Given the description of an element on the screen output the (x, y) to click on. 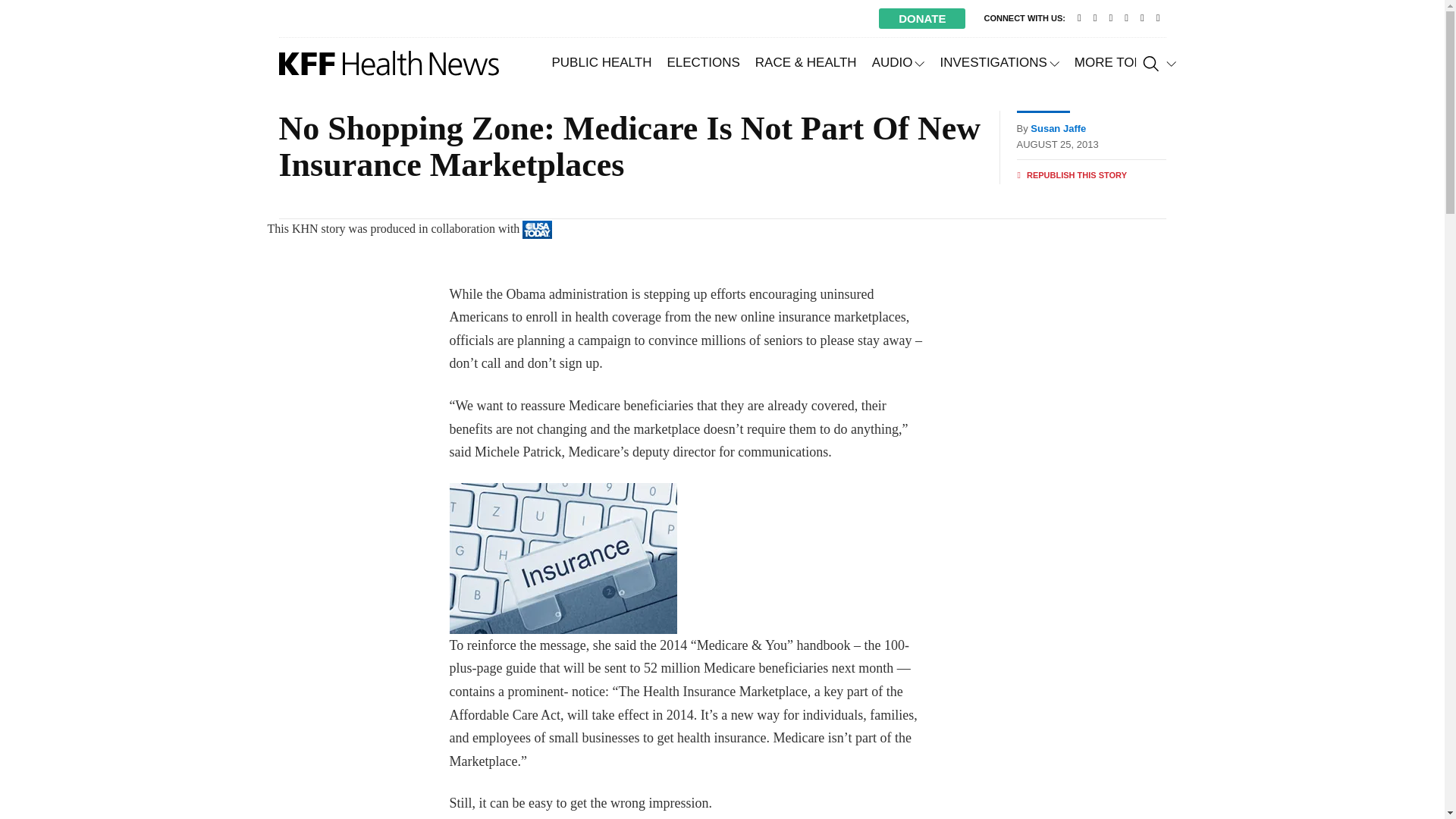
Instagram (1142, 18)
PUBLIC HEALTH (601, 61)
Contact (1079, 18)
DONATE (922, 18)
KFF Health News (389, 63)
ELECTIONS (702, 61)
Instagram (1142, 18)
AUDIO (898, 61)
RSS (1158, 18)
Click to share (1071, 175)
Contact (1079, 18)
Twitter (1095, 18)
LinkedIn (1126, 18)
RSS (1158, 18)
